Given the description of an element on the screen output the (x, y) to click on. 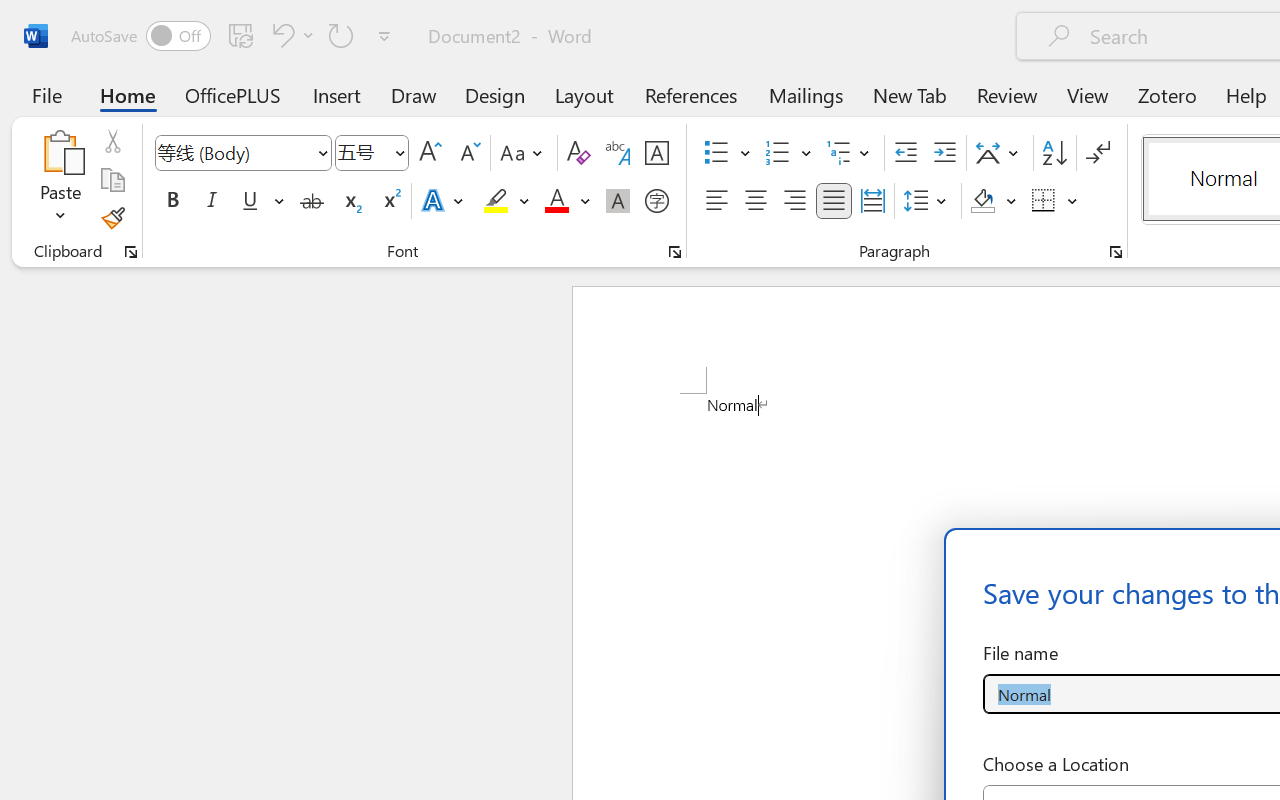
Copy (112, 179)
Office Clipboard... (131, 252)
